Given the description of an element on the screen output the (x, y) to click on. 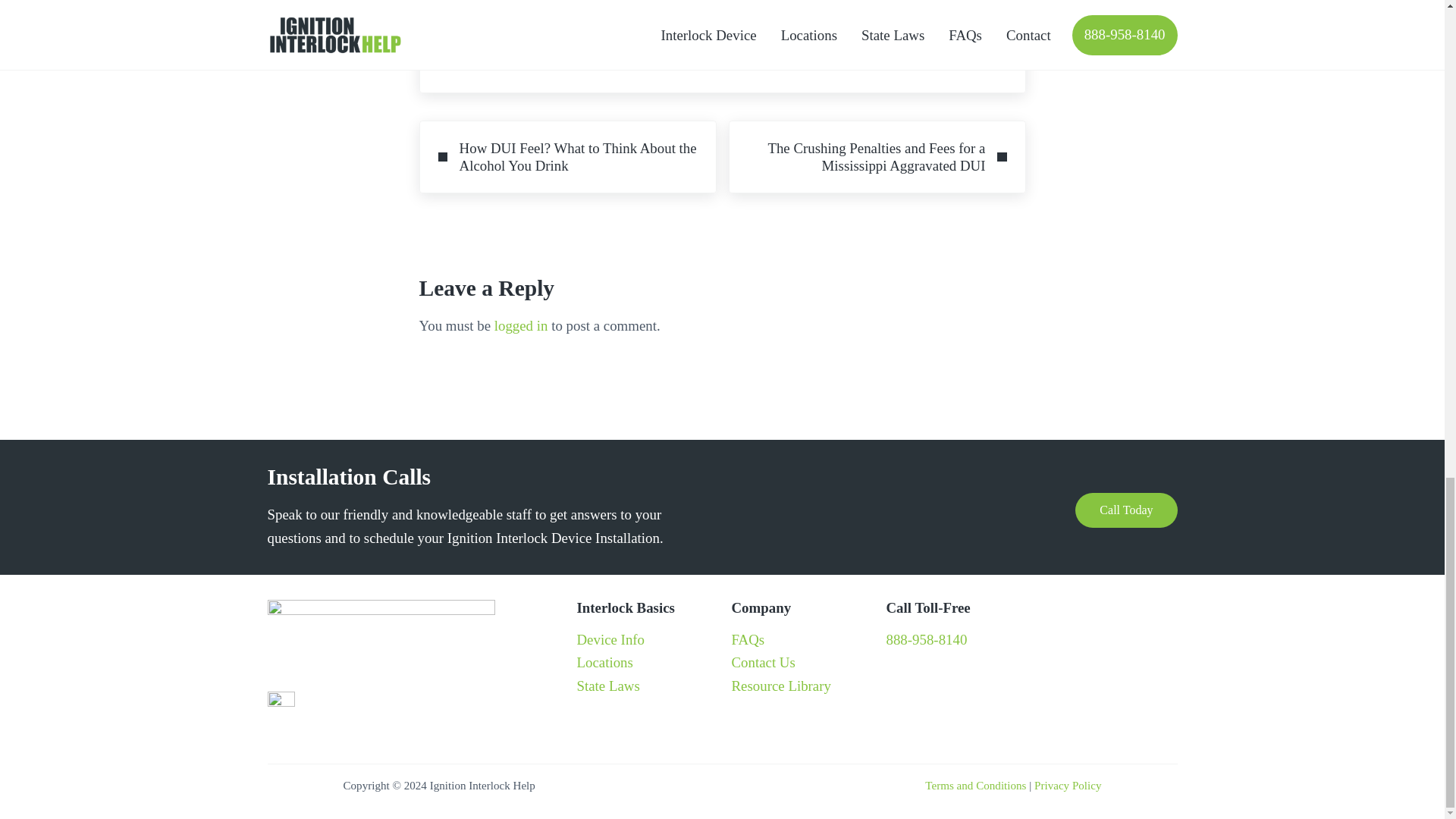
Call Today (1125, 510)
Device Info (610, 639)
Resource Library (779, 685)
888-958-8140 (925, 639)
State Laws (607, 685)
Contact Us (762, 662)
FAQs (747, 639)
logged in (521, 325)
